Given the description of an element on the screen output the (x, y) to click on. 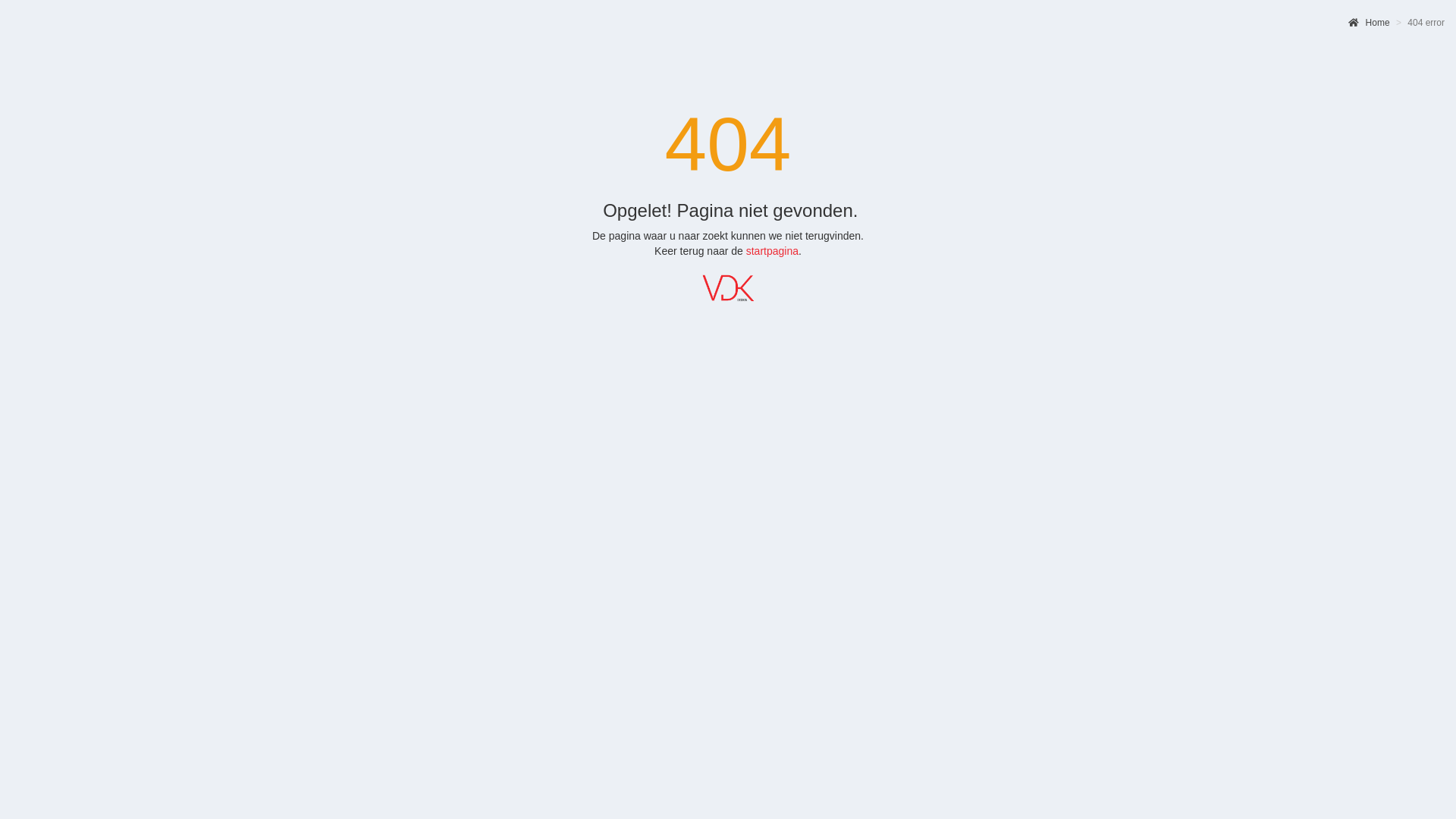
Home Element type: text (1368, 22)
startpagina Element type: text (772, 250)
